Given the description of an element on the screen output the (x, y) to click on. 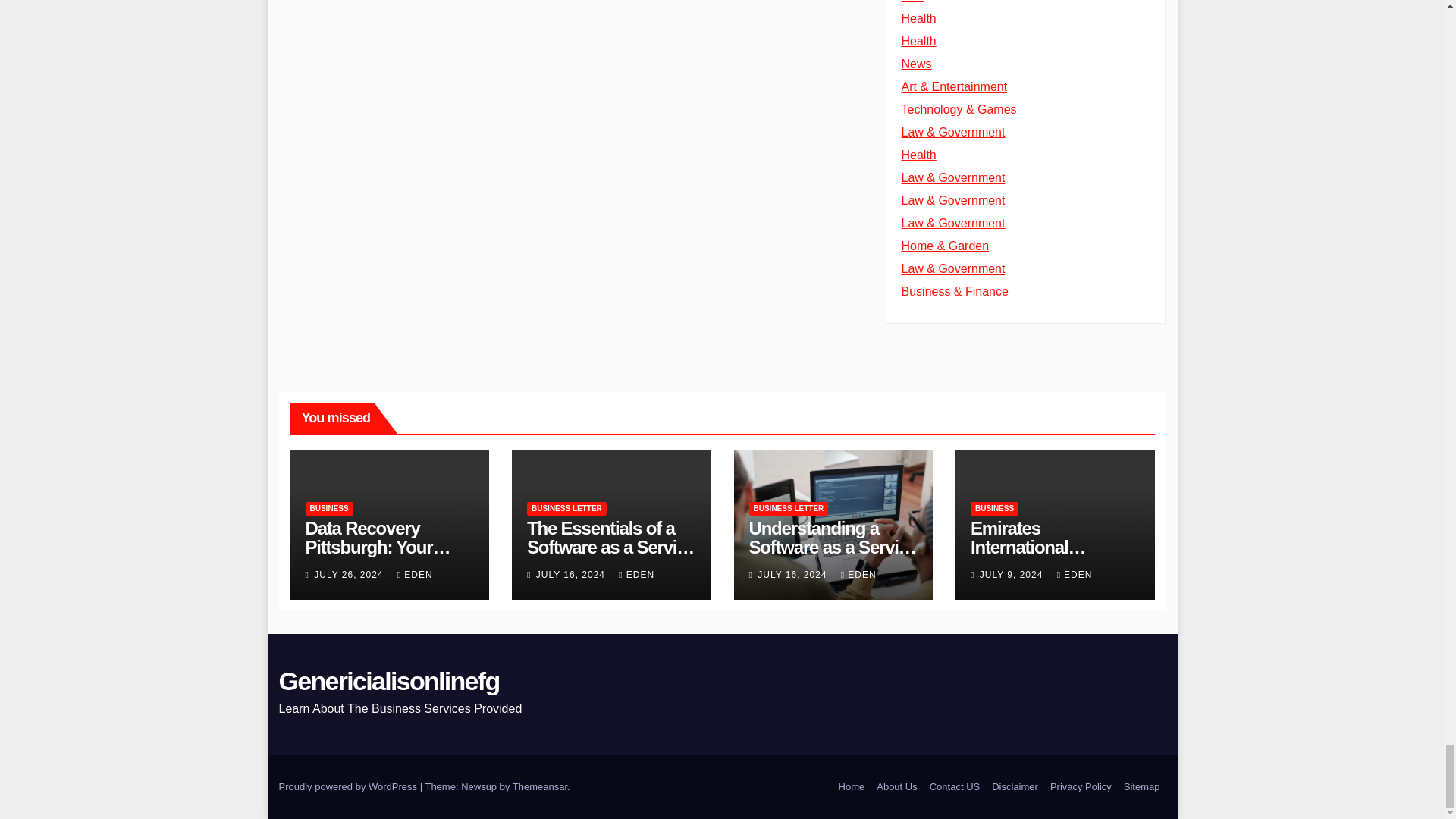
Home (851, 786)
